Given the description of an element on the screen output the (x, y) to click on. 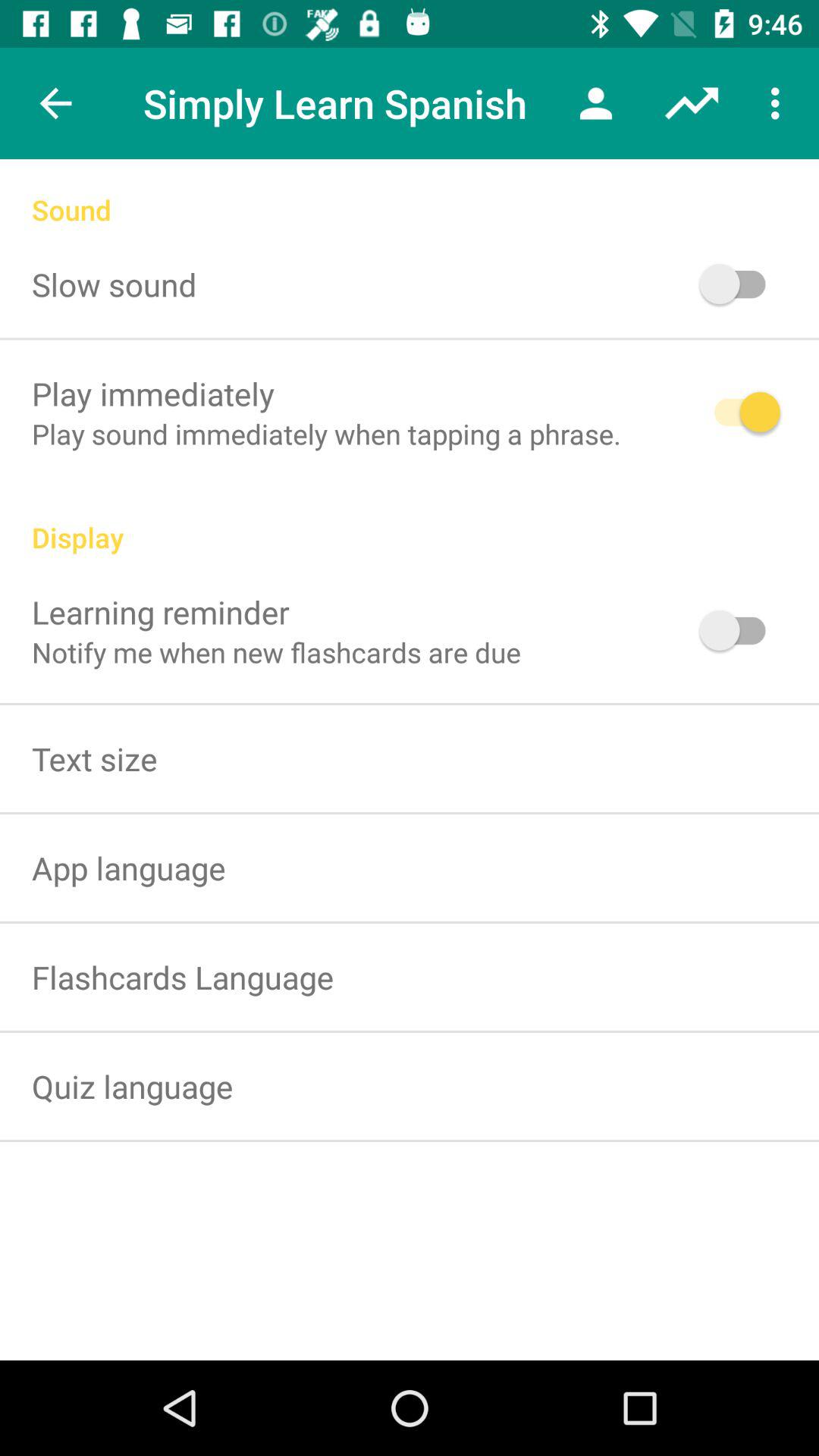
flip to the text size item (94, 758)
